Given the description of an element on the screen output the (x, y) to click on. 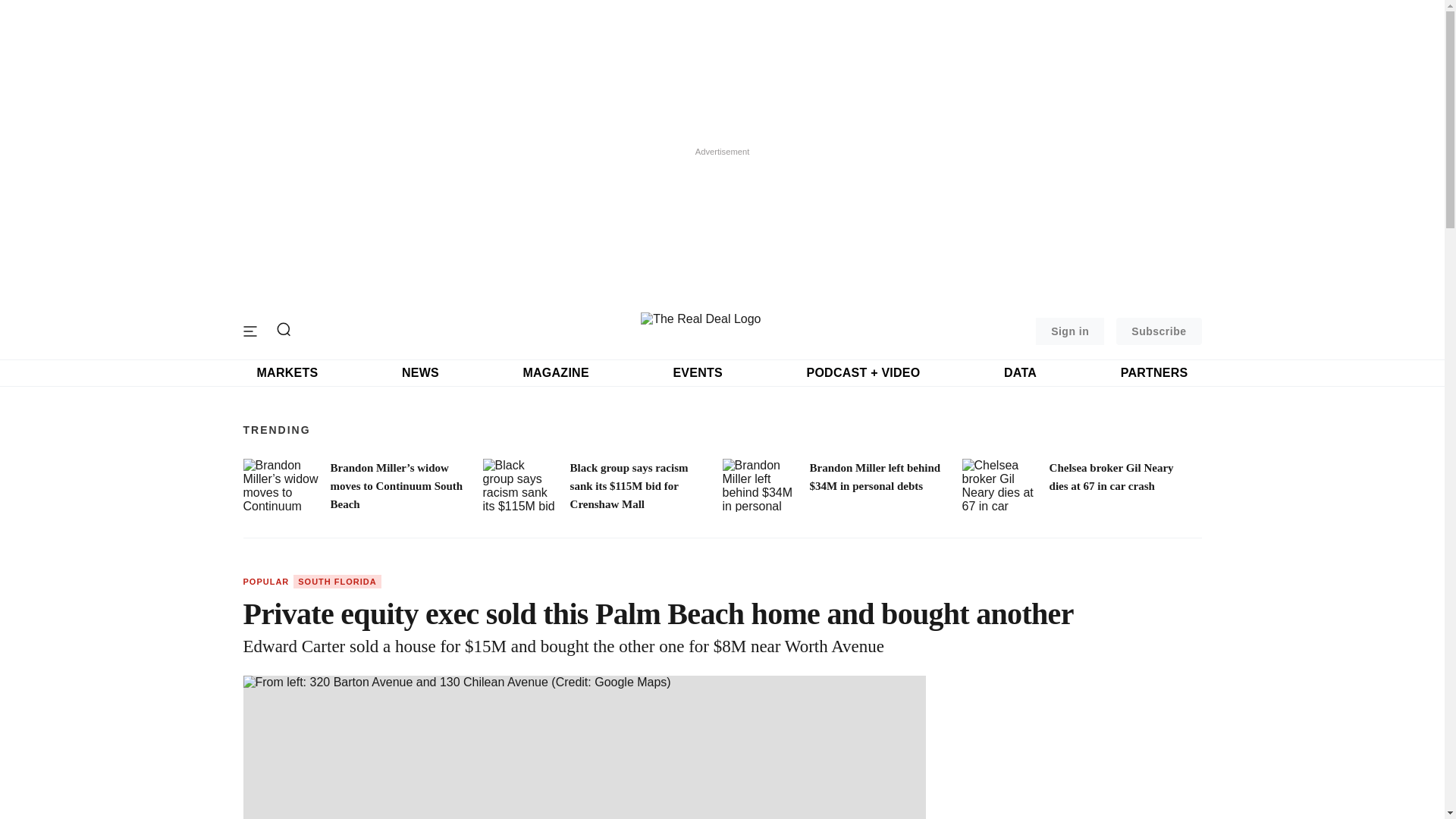
EVENTS (697, 373)
Sign in (1069, 330)
Subscribe (1158, 330)
NEWS (420, 373)
MARKETS (286, 373)
MAGAZINE (555, 373)
